Given the description of an element on the screen output the (x, y) to click on. 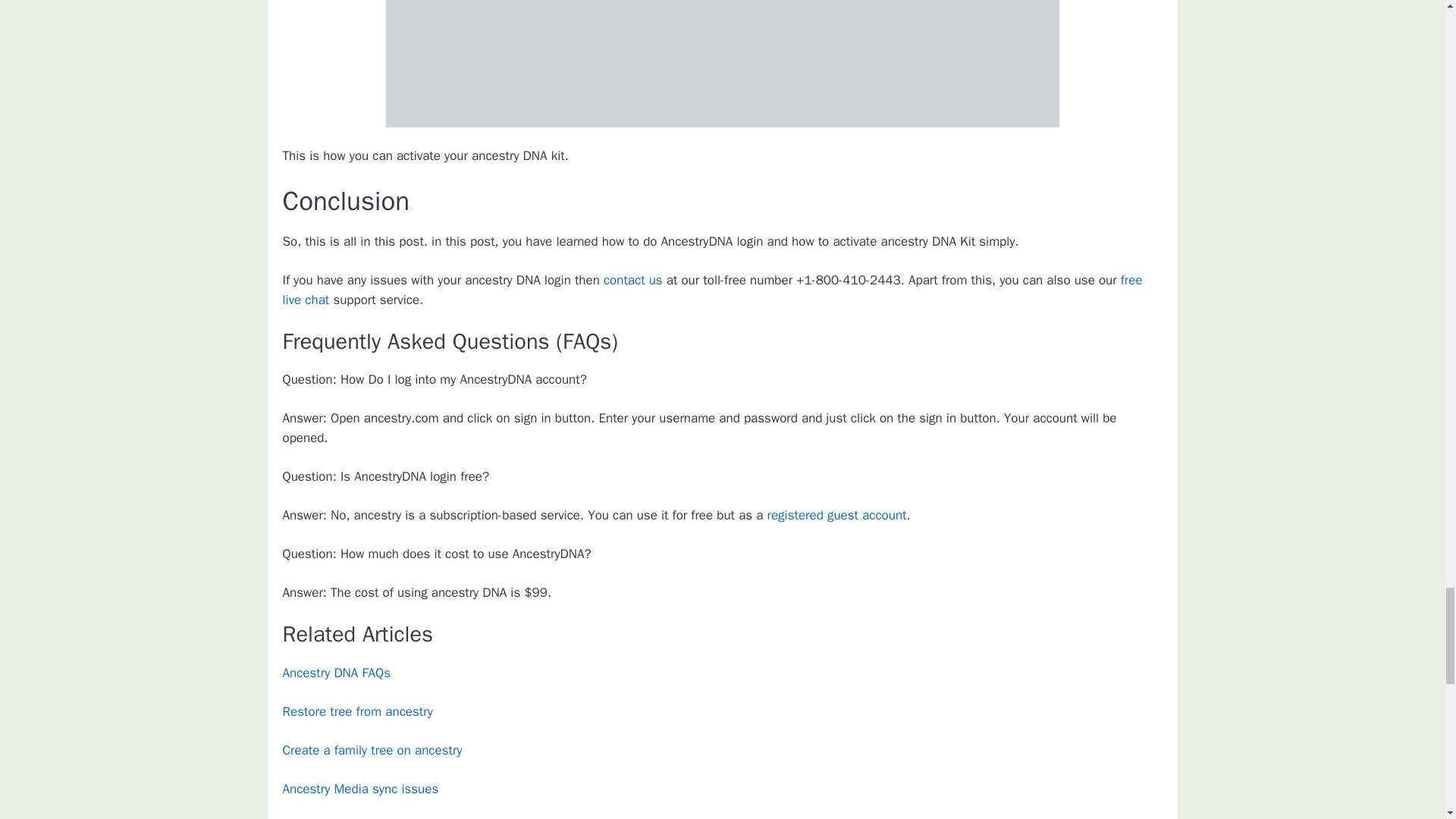
Create a family tree on ancestry (371, 750)
Restore tree from ancestry (357, 711)
contact us (633, 279)
Ancestry DNA FAQs (336, 672)
free live chat (711, 289)
registered guest account (837, 514)
Ancestry Media sync issues (360, 788)
